Given the description of an element on the screen output the (x, y) to click on. 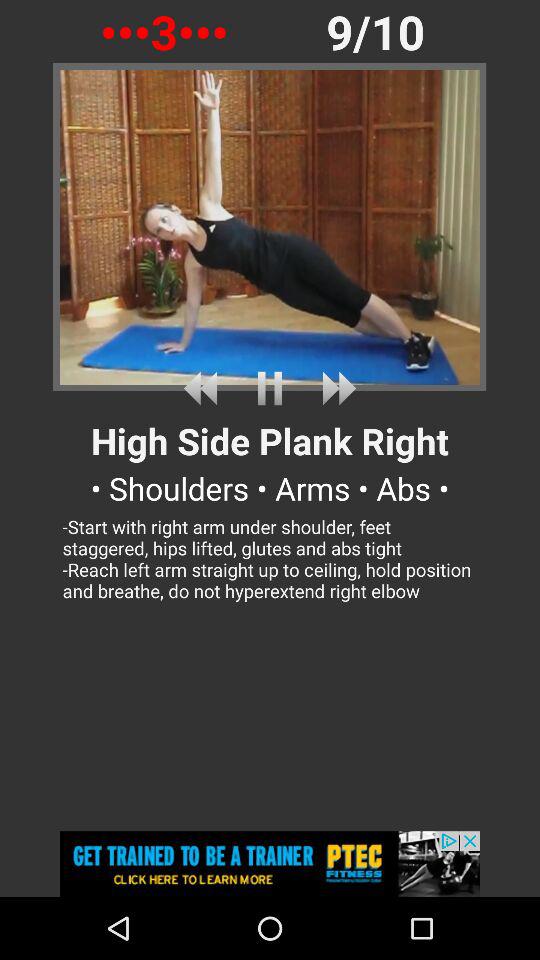
go to next (335, 388)
